Given the description of an element on the screen output the (x, y) to click on. 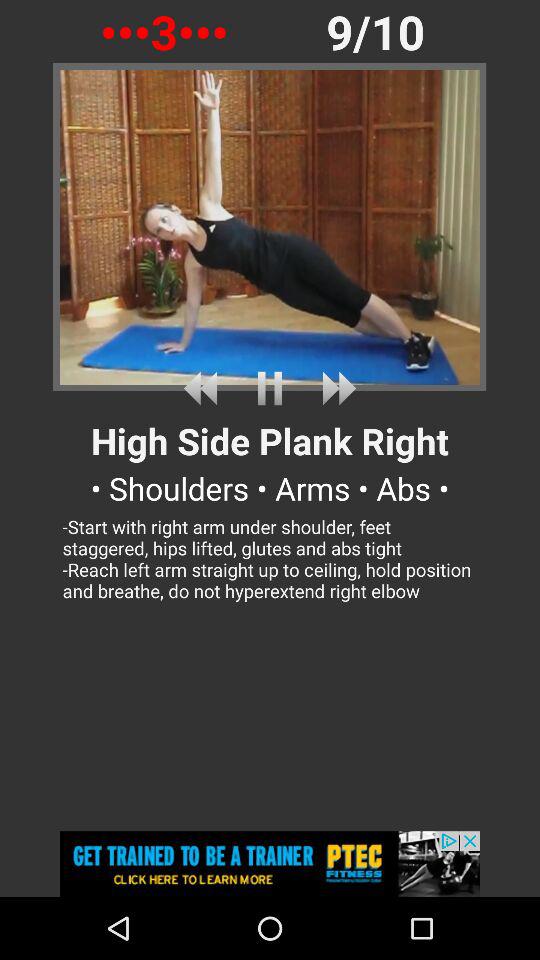
go to next (335, 388)
